Given the description of an element on the screen output the (x, y) to click on. 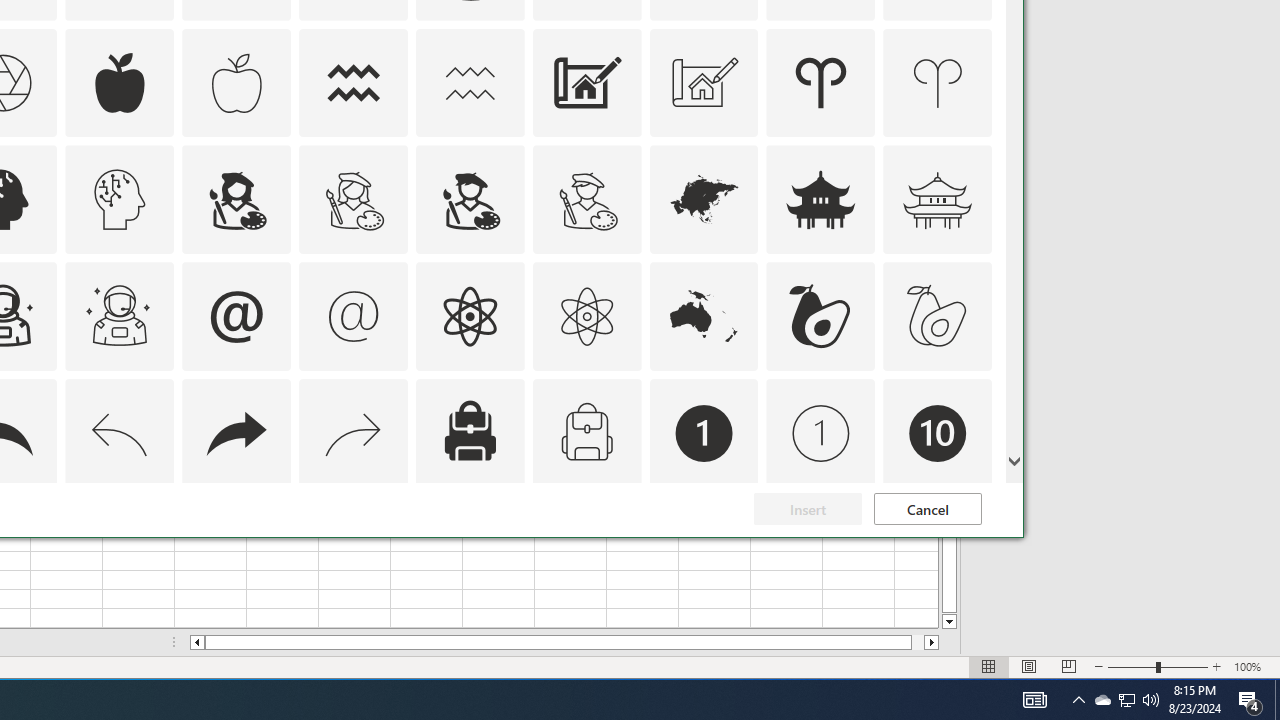
AutomationID: Icons_Architecture (586, 82)
AutomationID: Icons_Badge6_M (236, 550)
AutomationID: Icons (937, 550)
AutomationID: 4105 (1034, 699)
User Promoted Notification Area (1126, 699)
AutomationID: Icons_Badge8 (586, 550)
AutomationID: Icons_Avocado (820, 316)
AutomationID: Icons_AsianTemple_M (938, 200)
Notification Chevron (1078, 699)
